Given the description of an element on the screen output the (x, y) to click on. 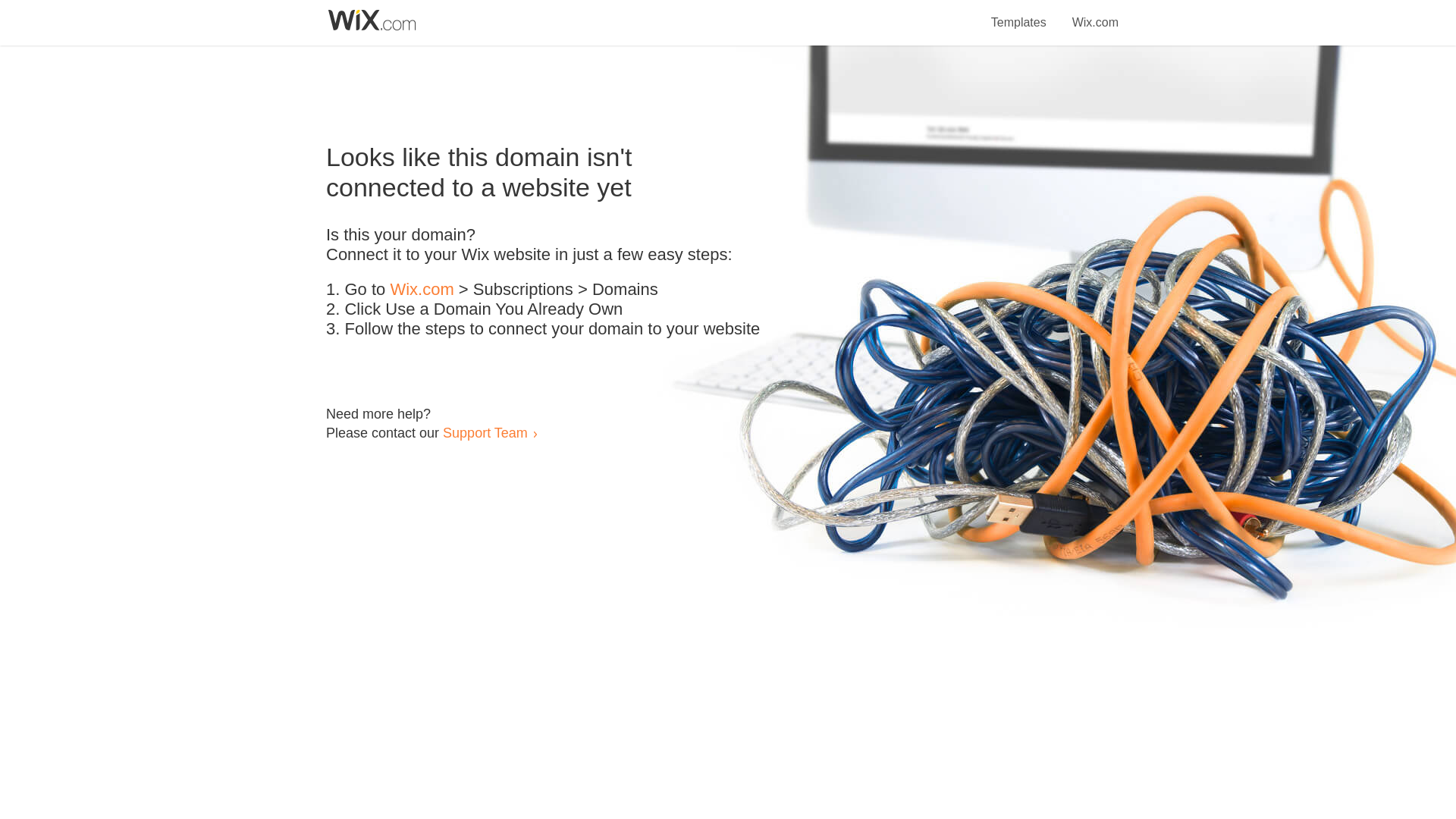
Wix.com (421, 289)
Templates (1018, 14)
Support Team (484, 432)
Wix.com (1095, 14)
